Given the description of an element on the screen output the (x, y) to click on. 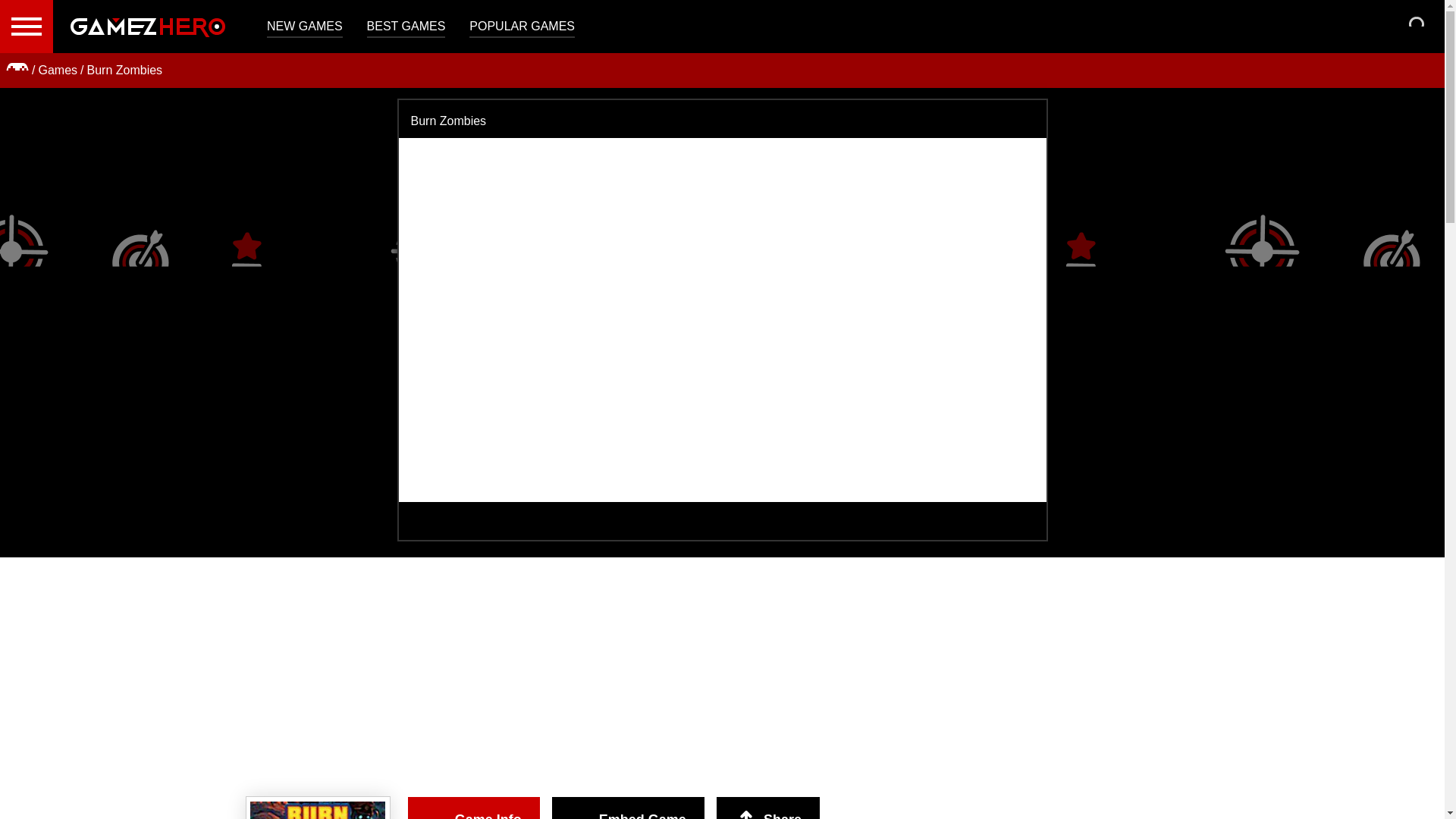
New Games (304, 27)
Search Game (1419, 30)
Best Games (405, 27)
Gamezhero.com - Free Online Games. Play Free Games Online. (147, 26)
BEST GAMES (405, 27)
Popular Games (521, 27)
POPULAR GAMES (521, 27)
Gamezhero.com - Free Online Games. Play Free Games Online. (147, 26)
NEW GAMES (304, 27)
